Given the description of an element on the screen output the (x, y) to click on. 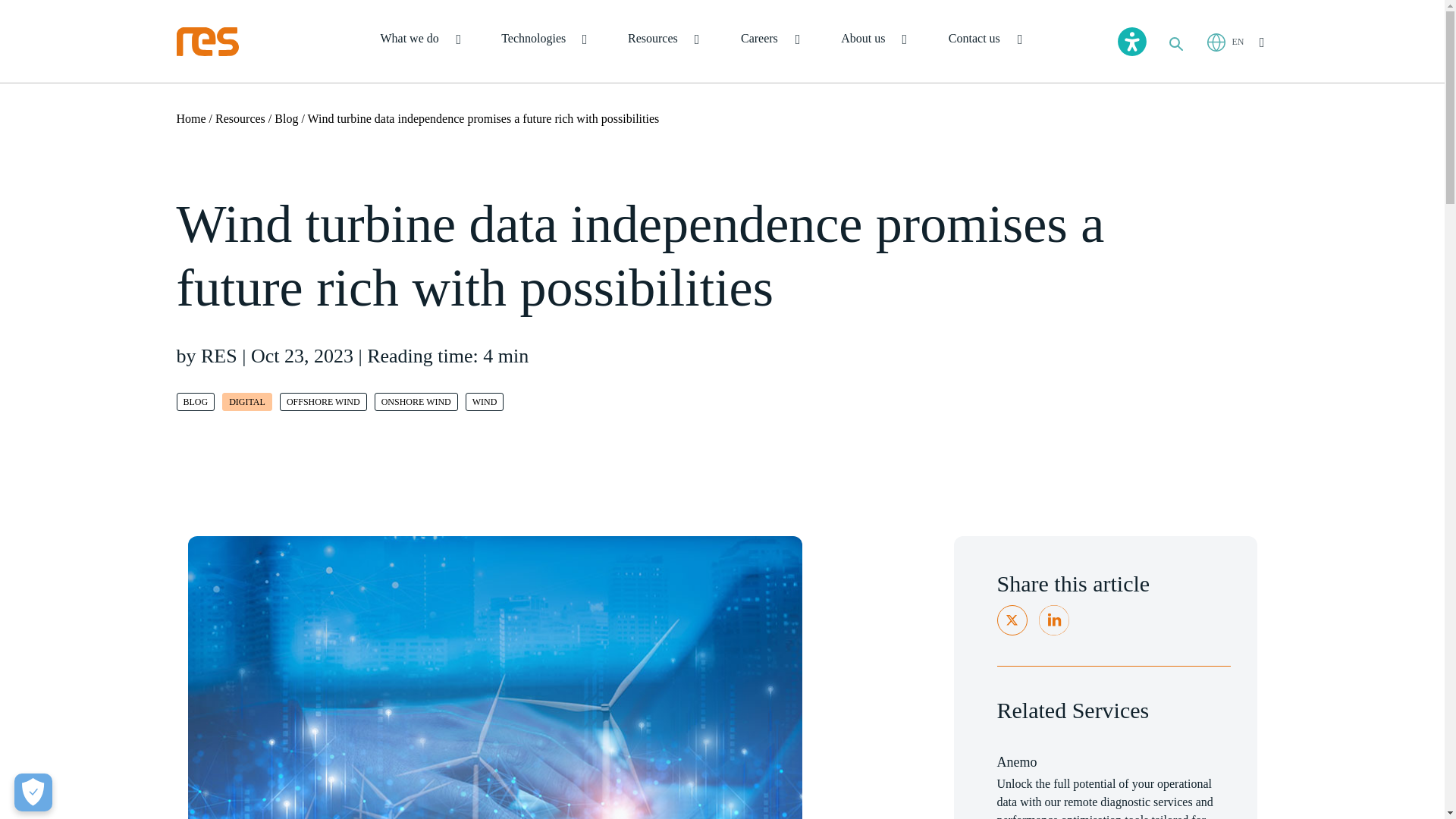
Resources (662, 42)
Technologies (543, 42)
Careers (768, 42)
Cookie Preferences (33, 792)
Careers (768, 42)
Resources (662, 42)
Contact us (984, 42)
About us (873, 42)
What we do (419, 42)
What we do (419, 42)
Contact us (984, 42)
Technologies (543, 42)
About us (873, 42)
